Given the description of an element on the screen output the (x, y) to click on. 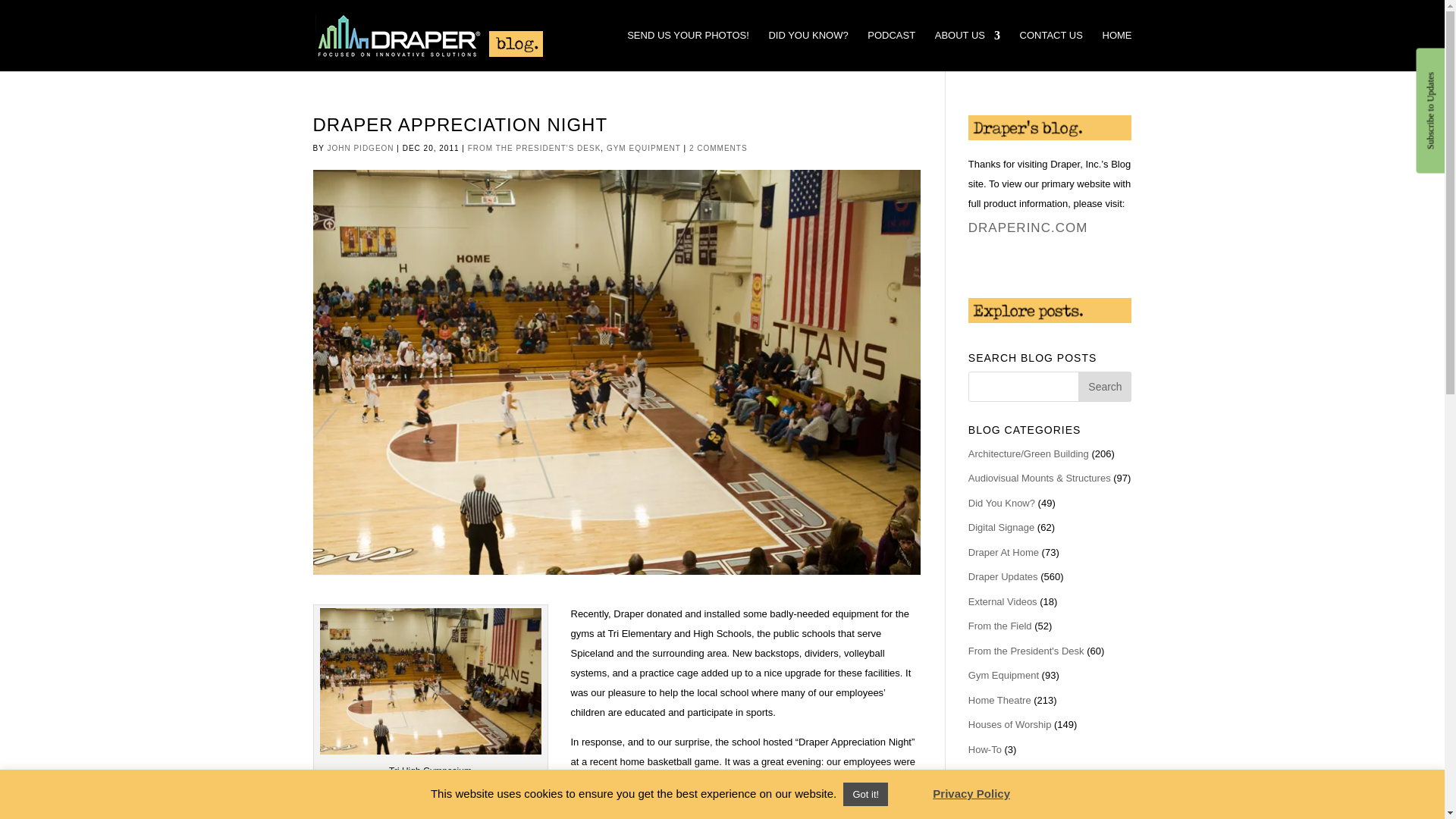
External Videos (1002, 601)
Posts by John Pidgeon (359, 148)
SEND US YOUR PHOTOS! (688, 50)
From the President's Desk (1026, 650)
Digital Signage (1000, 527)
Draper At Home (1003, 552)
Houses of Worship (1009, 724)
International Update (1012, 773)
Did You Know? (1001, 502)
Gym Equipment (1003, 674)
ABOUT US (967, 50)
How-To (984, 749)
2 COMMENTS (718, 148)
Home Theatre (999, 699)
PODCAST (891, 50)
